Given the description of an element on the screen output the (x, y) to click on. 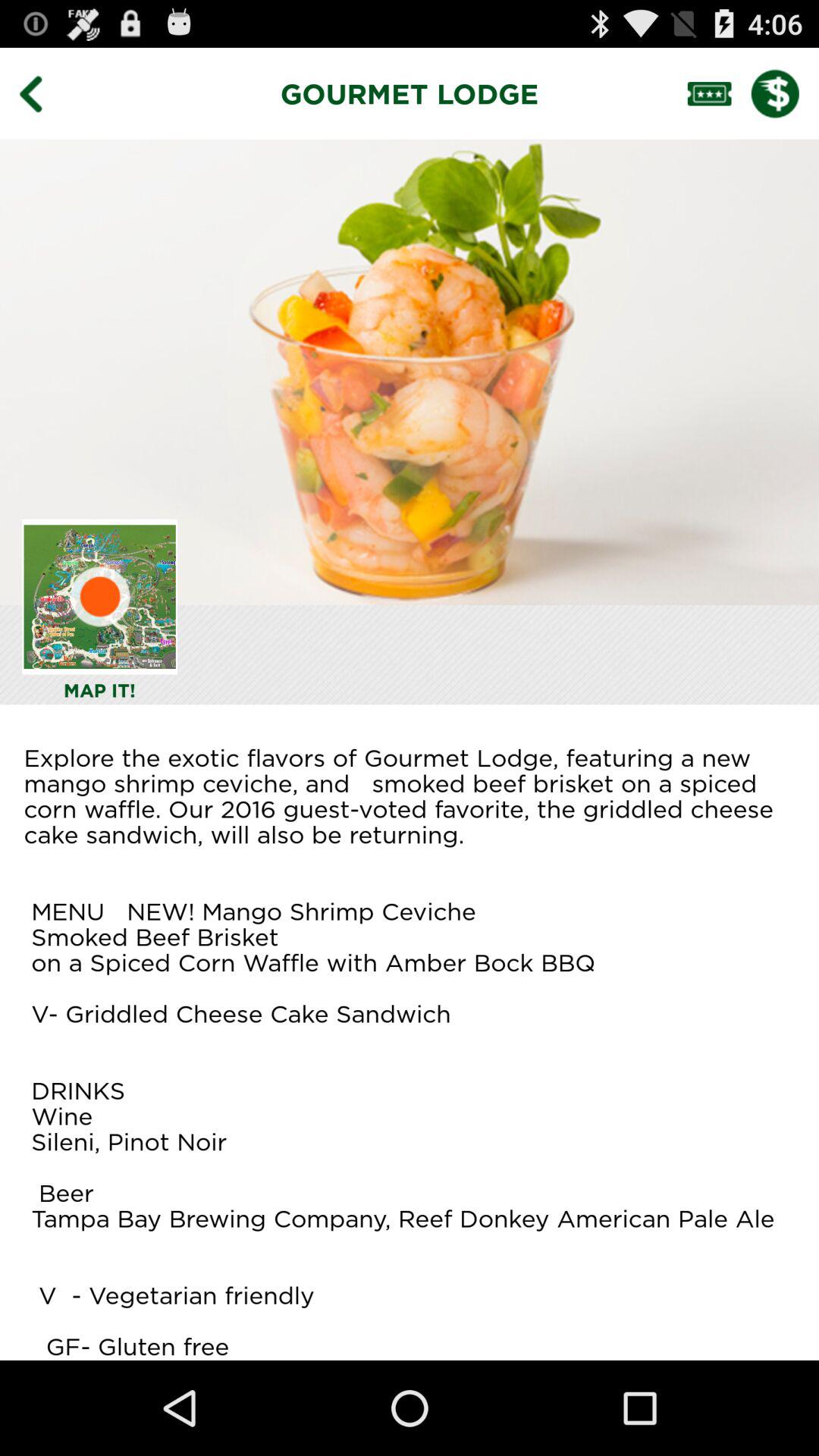
go to map (99, 596)
